Given the description of an element on the screen output the (x, y) to click on. 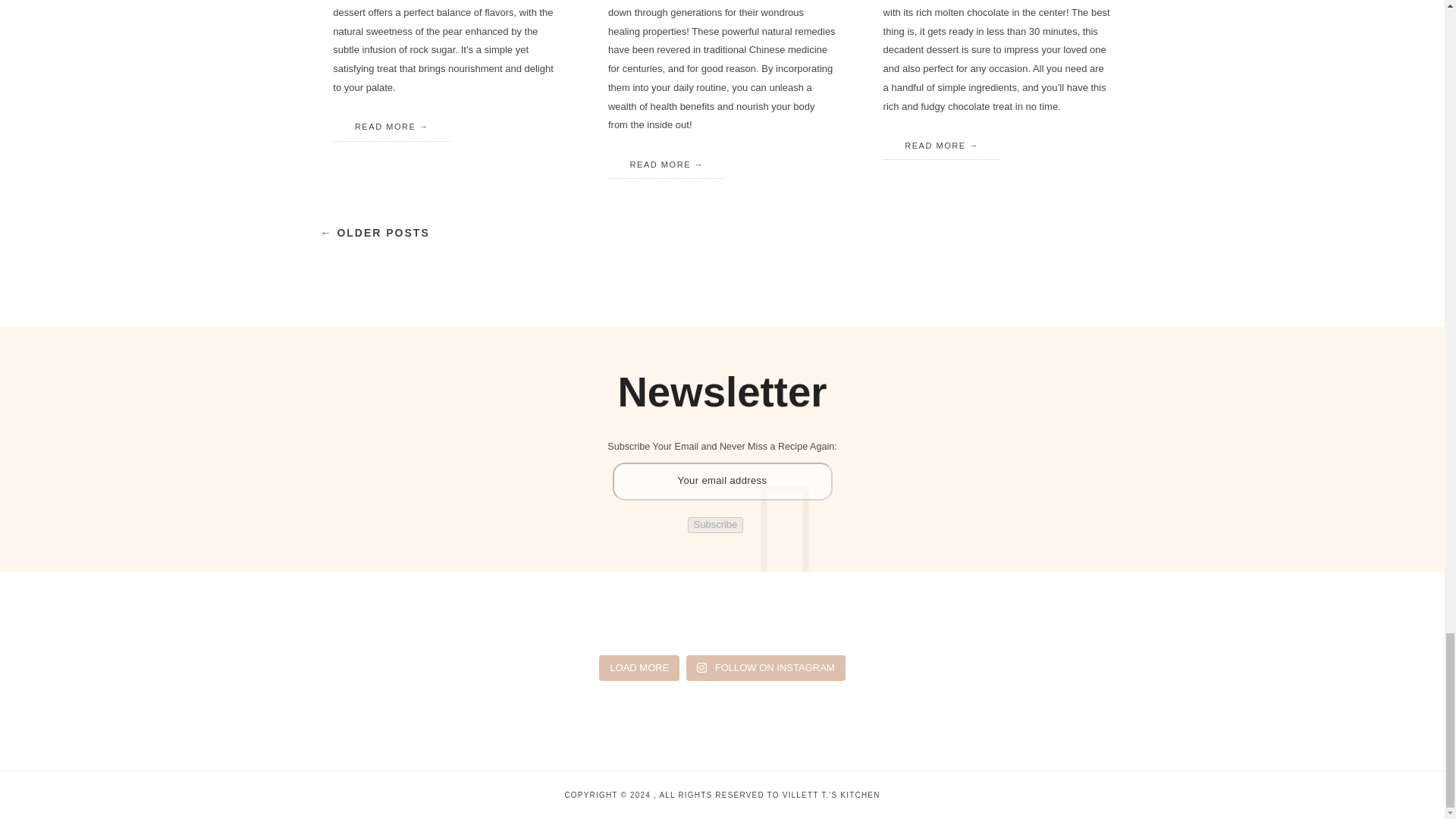
Subscribe (714, 524)
